Given the description of an element on the screen output the (x, y) to click on. 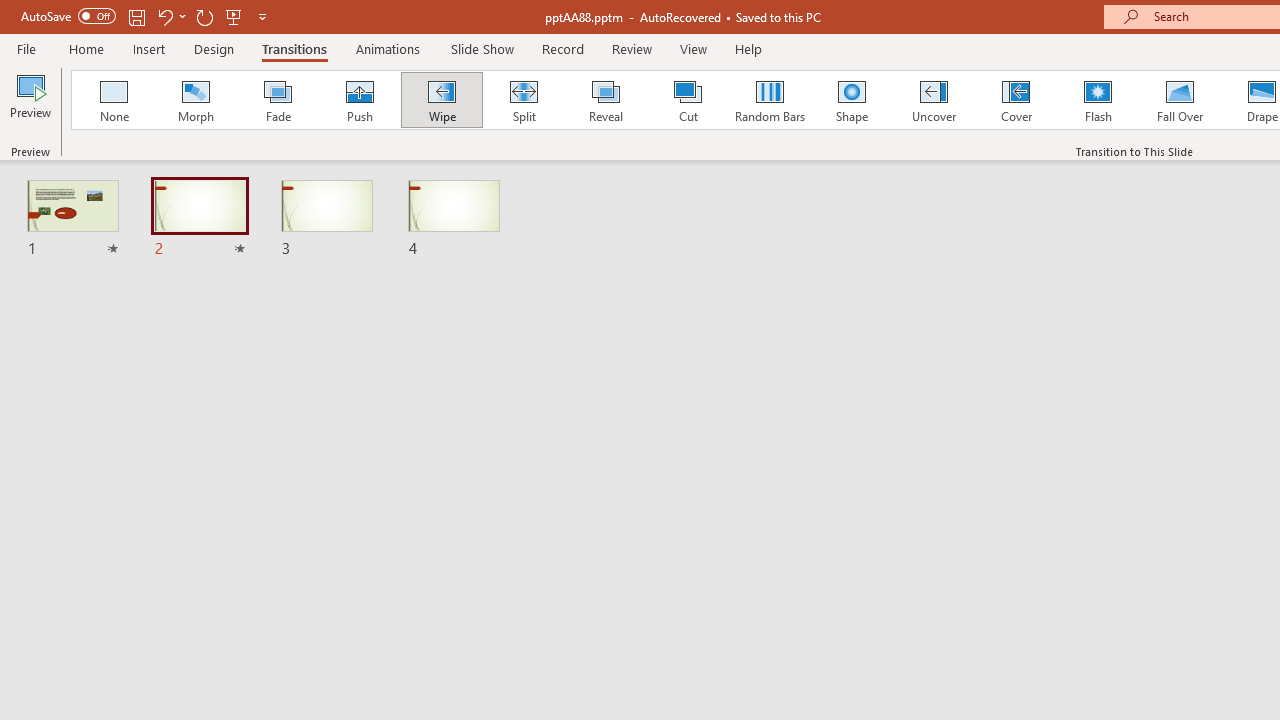
Reveal (605, 100)
